Given the description of an element on the screen output the (x, y) to click on. 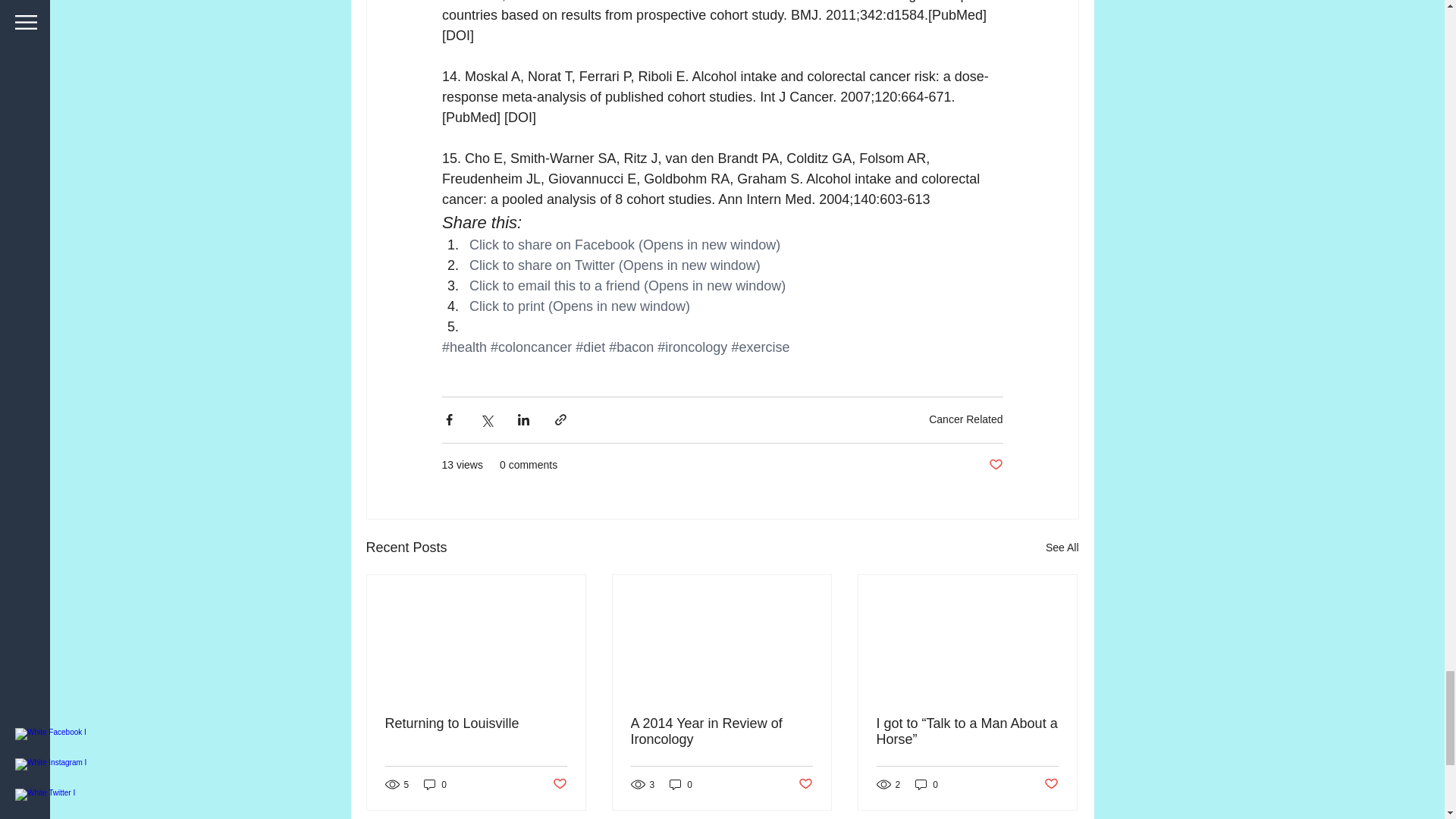
A 2014 Year in Review of Ironcology (721, 731)
0 (435, 784)
Post not marked as liked (1050, 784)
Post not marked as liked (995, 465)
0 (681, 784)
Returning to Louisville (476, 723)
See All (1061, 547)
Post not marked as liked (558, 784)
0 (926, 784)
Cancer Related (965, 419)
